Given the description of an element on the screen output the (x, y) to click on. 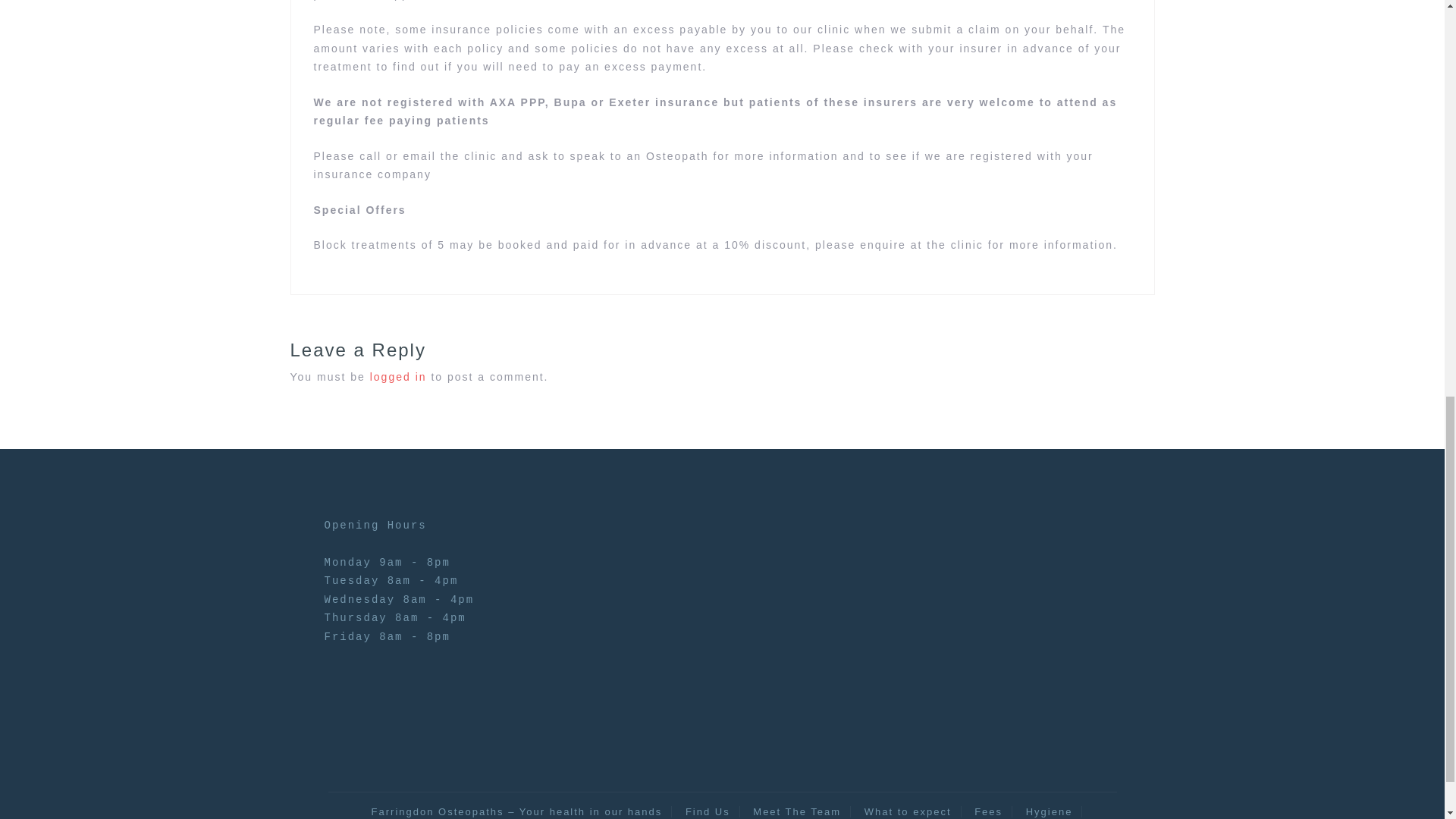
Meet The Team (797, 811)
Find Us (708, 811)
Hygiene (1049, 811)
logged in (397, 377)
What to expect (908, 811)
Fees (988, 811)
